Given the description of an element on the screen output the (x, y) to click on. 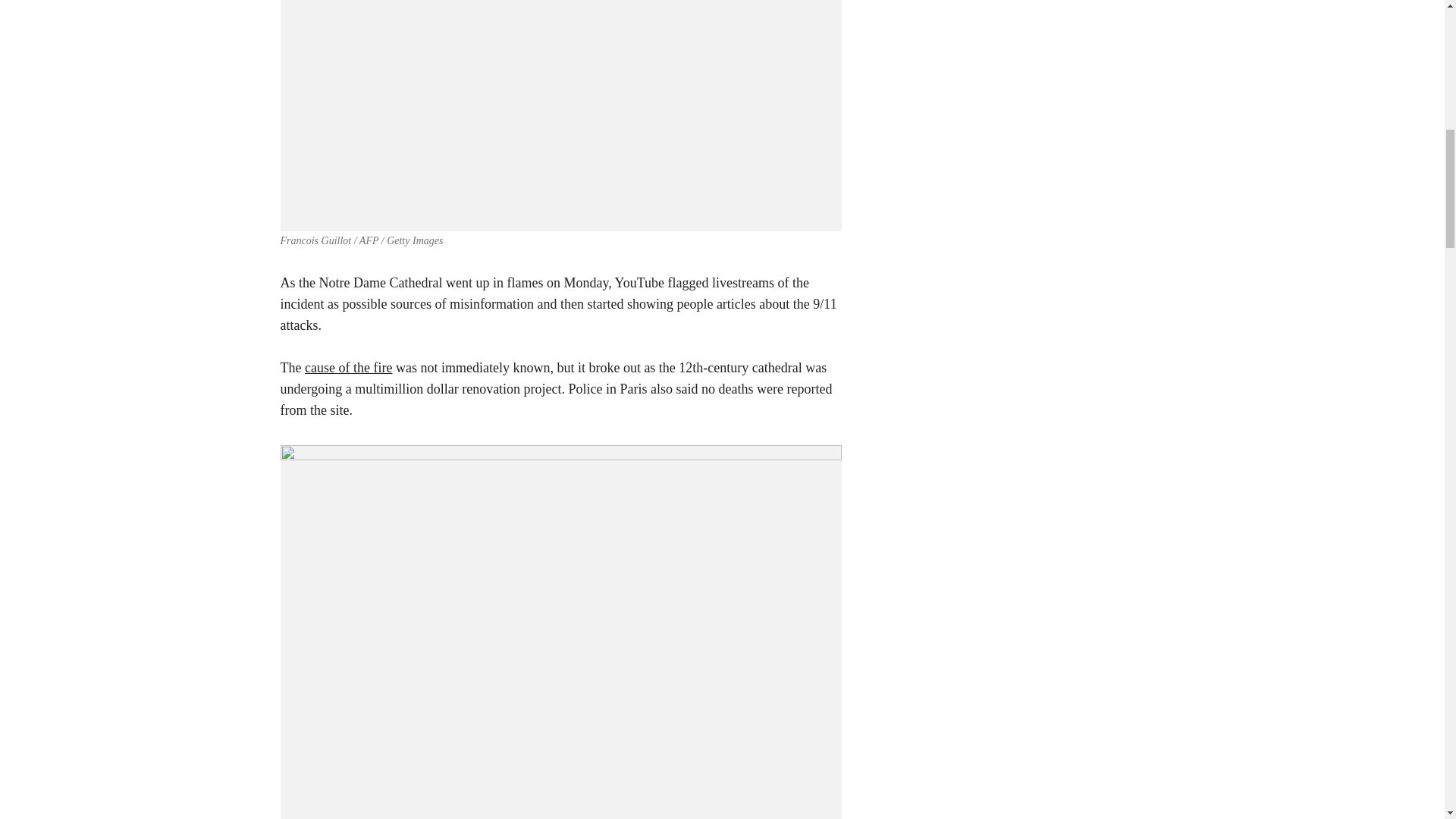
cause of the fire (347, 367)
